Given the description of an element on the screen output the (x, y) to click on. 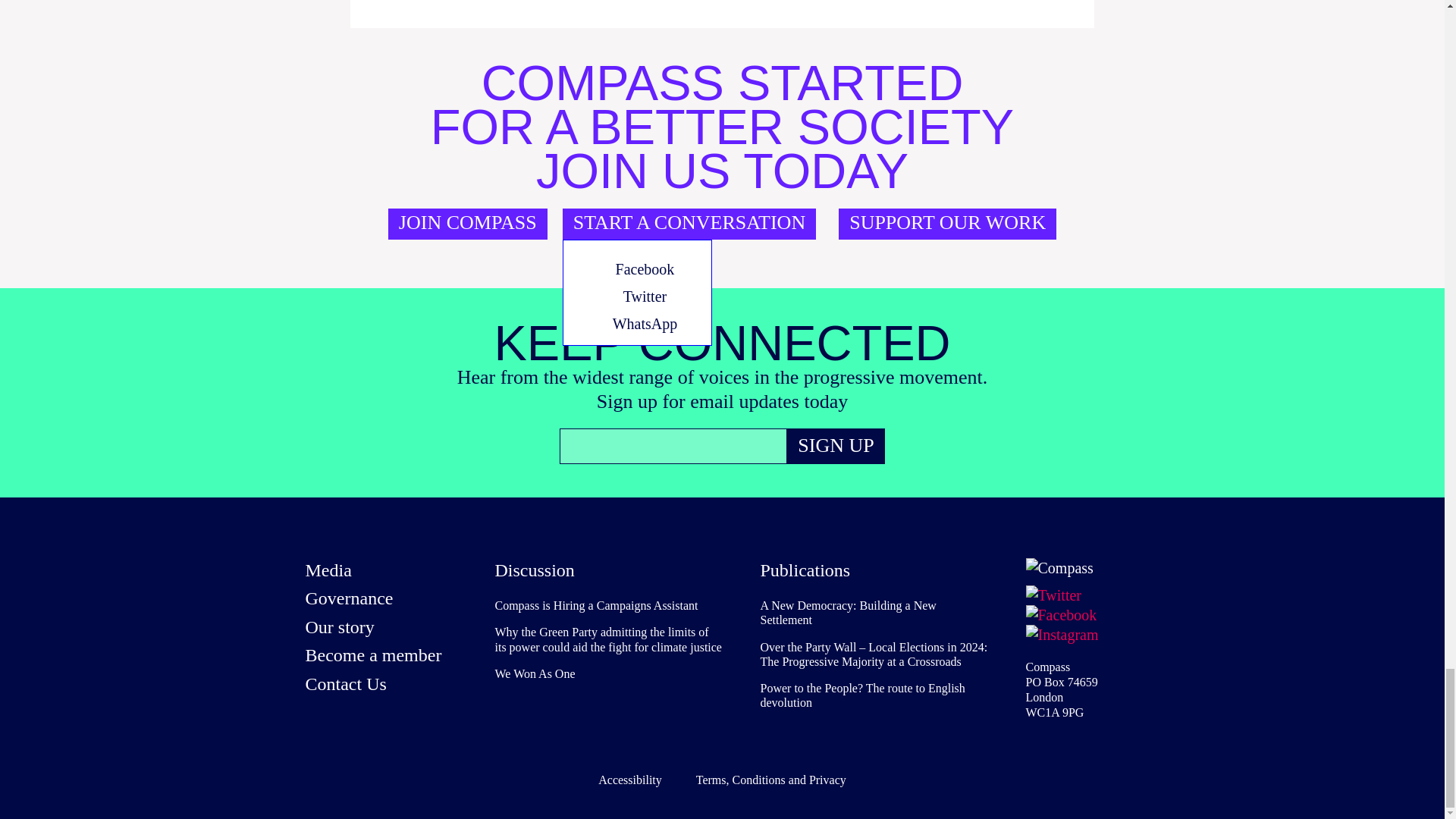
Donate to compass (947, 223)
Discussion on the blog (534, 569)
Publications (805, 569)
Join Compass (467, 223)
